Given the description of an element on the screen output the (x, y) to click on. 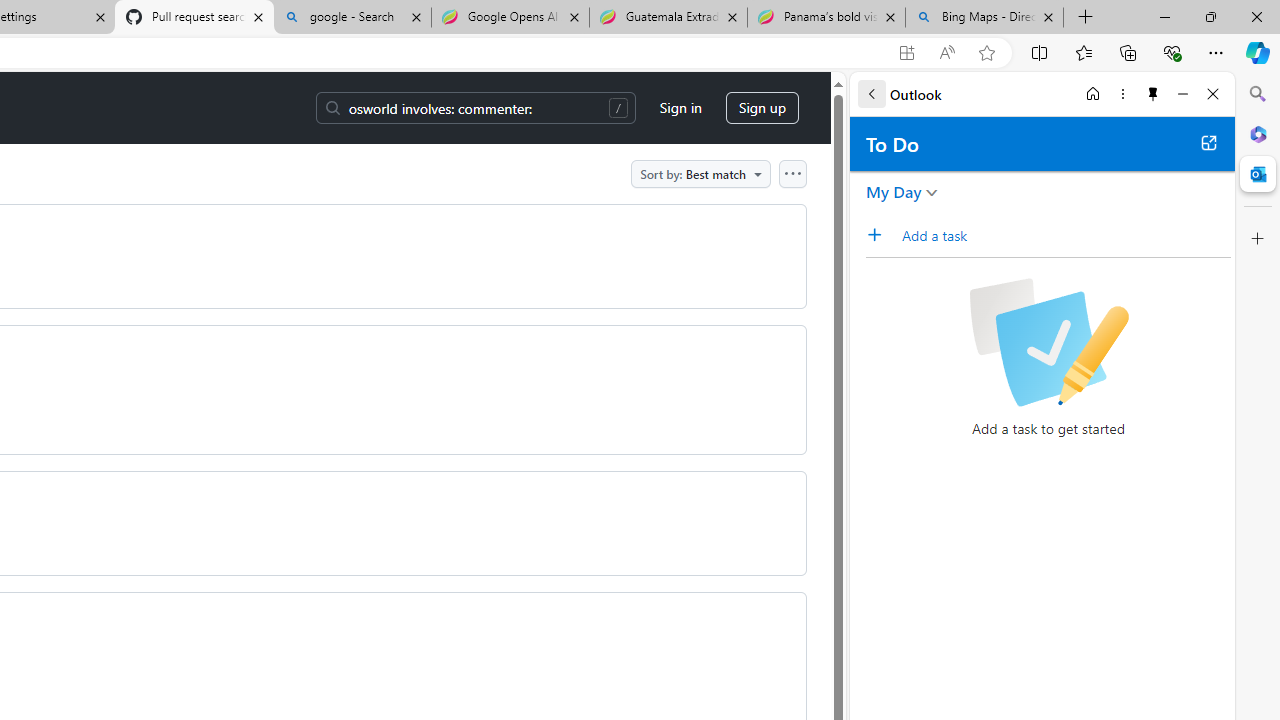
Sign up (761, 107)
Add a task (881, 235)
